Given the description of an element on the screen output the (x, y) to click on. 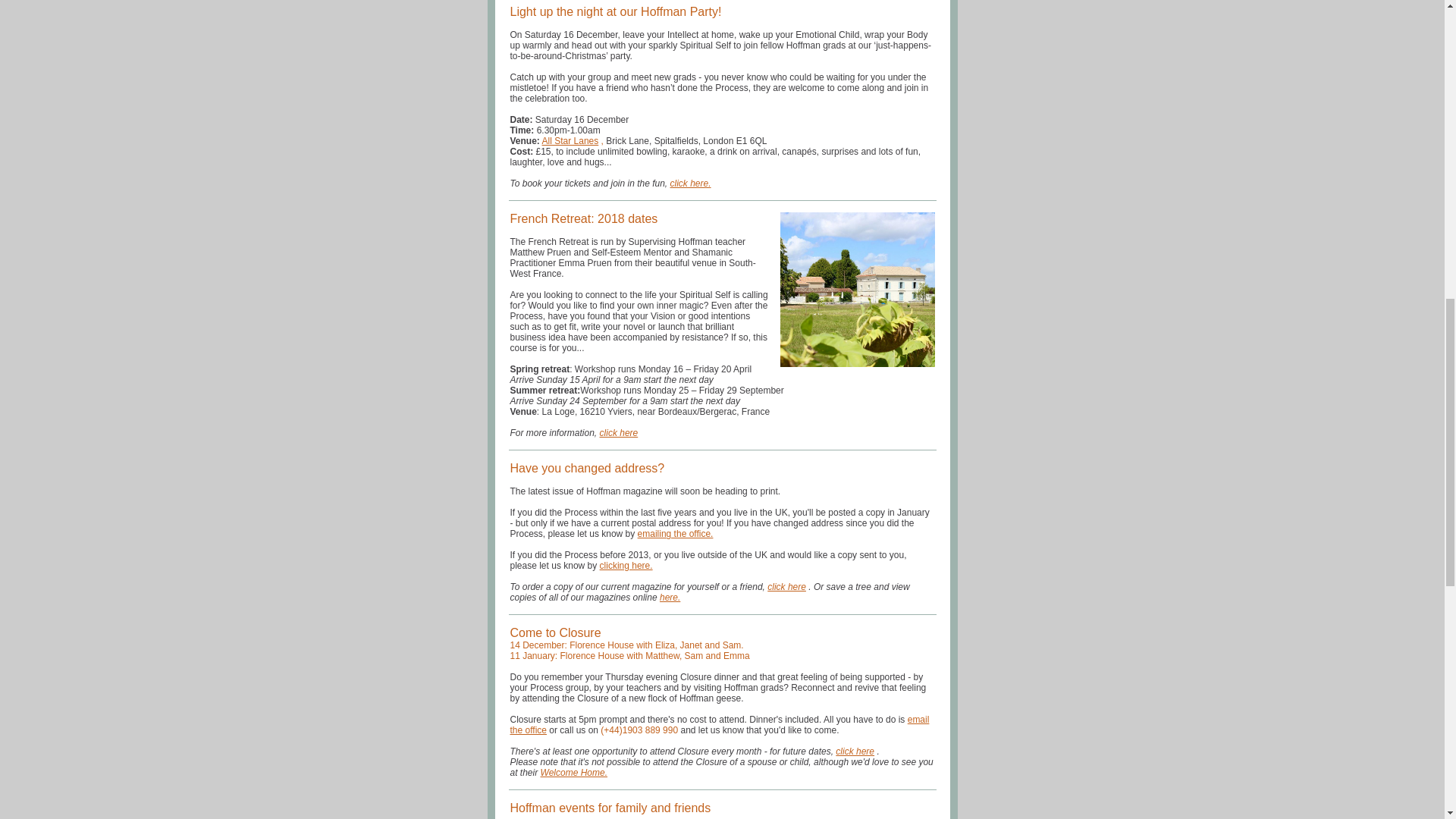
email the office (718, 724)
click here (855, 751)
clicking here. (625, 565)
emailing the office. (675, 533)
Welcome Home. (573, 772)
click here. (690, 183)
All Star Lanes (569, 140)
click here (786, 586)
click here (619, 432)
here. (669, 597)
